Given the description of an element on the screen output the (x, y) to click on. 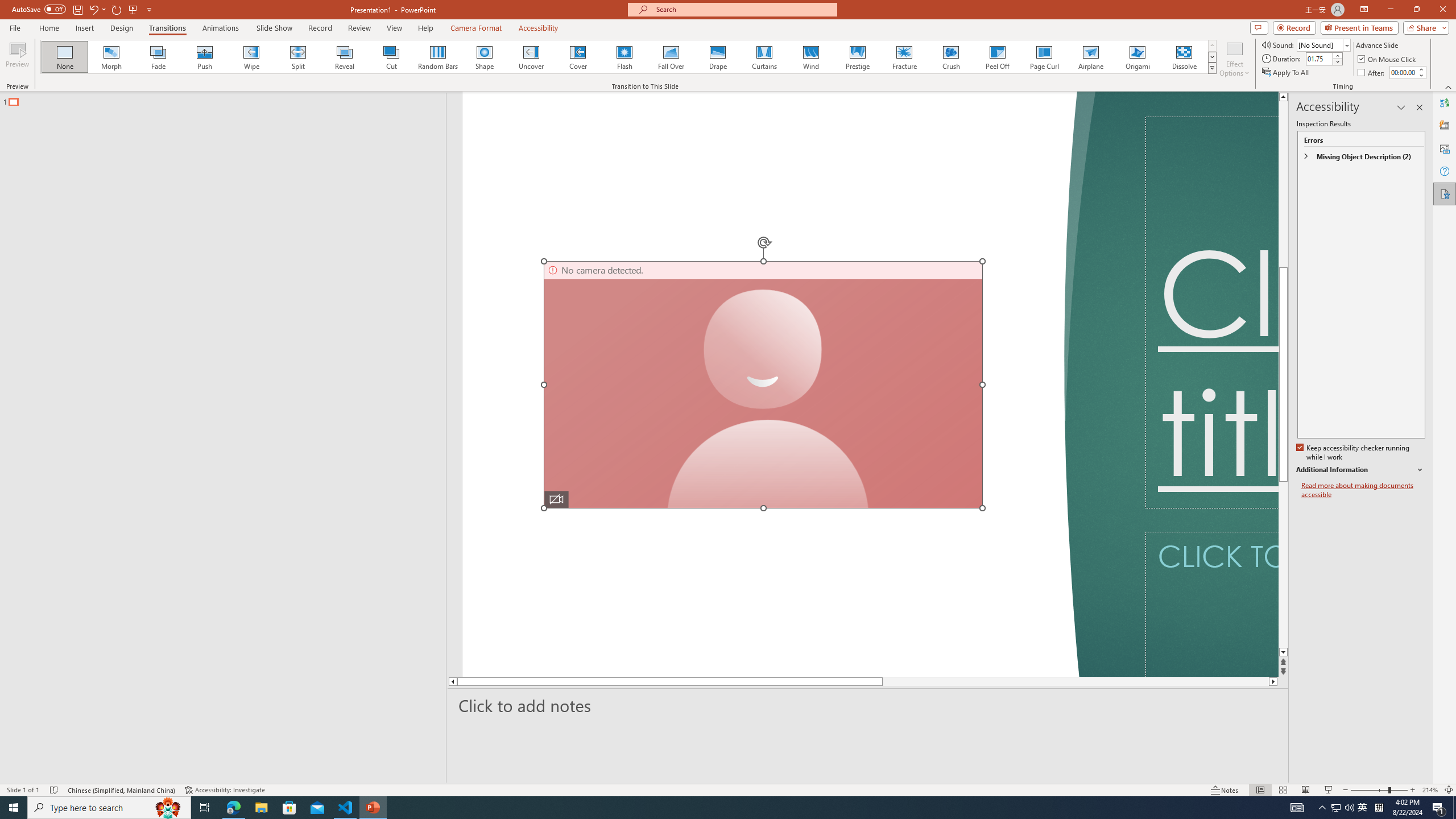
Home (48, 28)
After (1372, 72)
After (1403, 72)
Keep accessibility checker running while I work (1353, 452)
Reading View (1305, 790)
Zoom (1379, 790)
Random Bars (437, 56)
Quick Access Toolbar (82, 9)
Reveal (344, 56)
Insert (83, 28)
Drape (717, 56)
More Options (103, 9)
System (6, 6)
Read more about making documents accessible (1363, 489)
Page Curl (1043, 56)
